Given the description of an element on the screen output the (x, y) to click on. 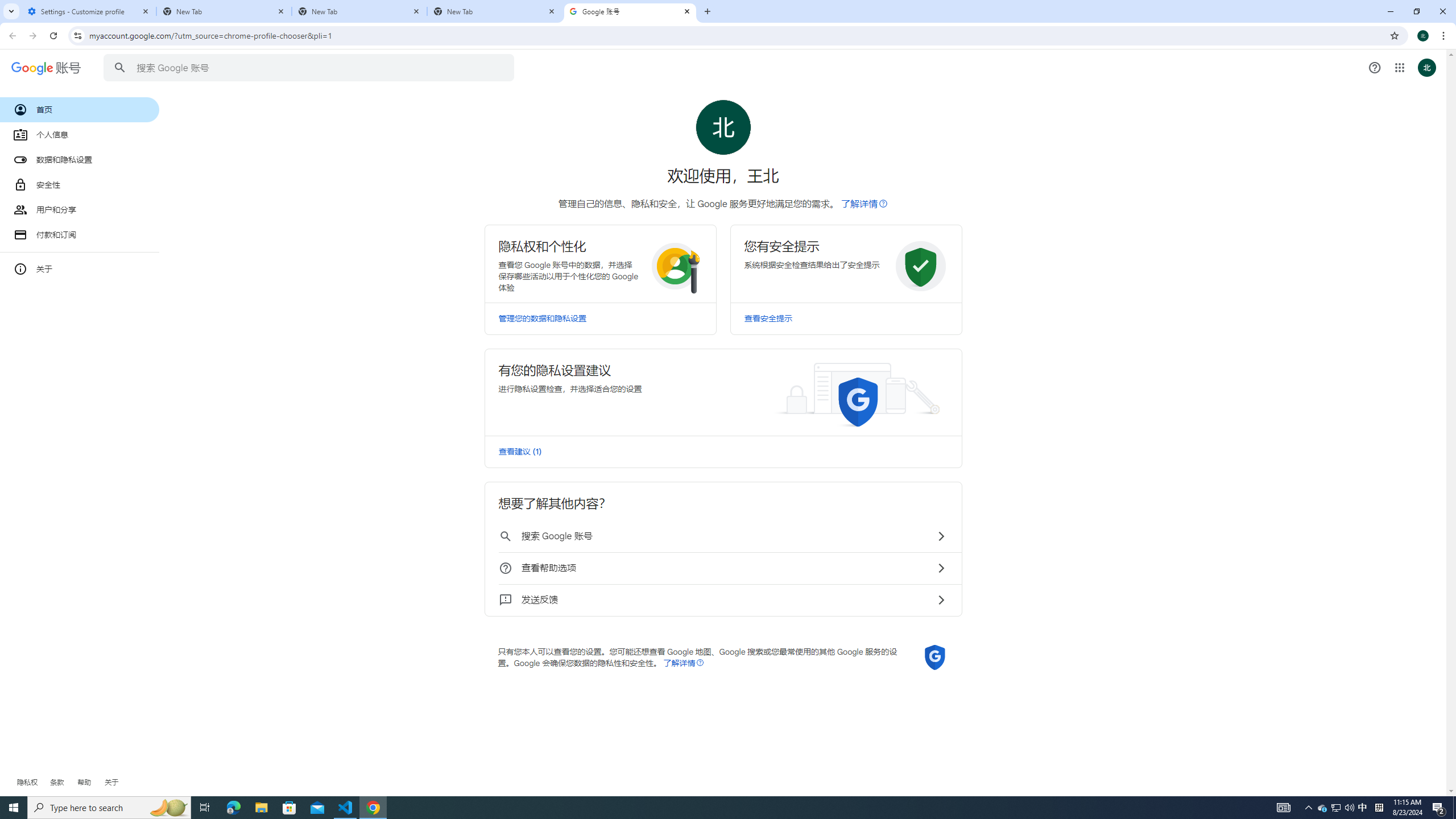
Forward (32, 35)
Back (10, 35)
Address and search bar (735, 35)
New Tab (494, 11)
Search tabs (10, 11)
